Given the description of an element on the screen output the (x, y) to click on. 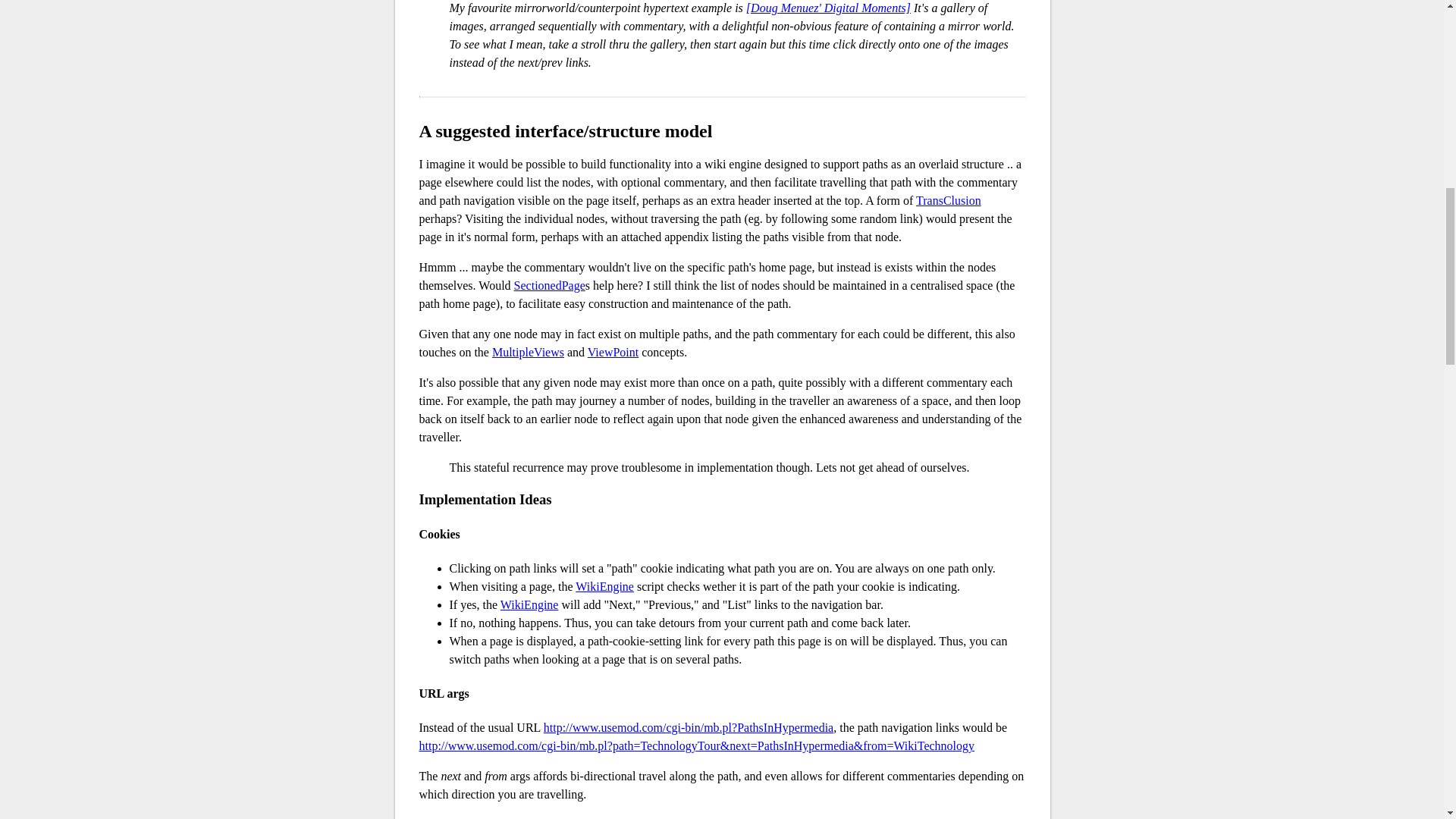
SectionedPage (549, 285)
MultipleViews (528, 351)
ViewPoint (613, 351)
WikiEngine (604, 585)
TransClusion (948, 200)
WikiEngine (529, 604)
